Given the description of an element on the screen output the (x, y) to click on. 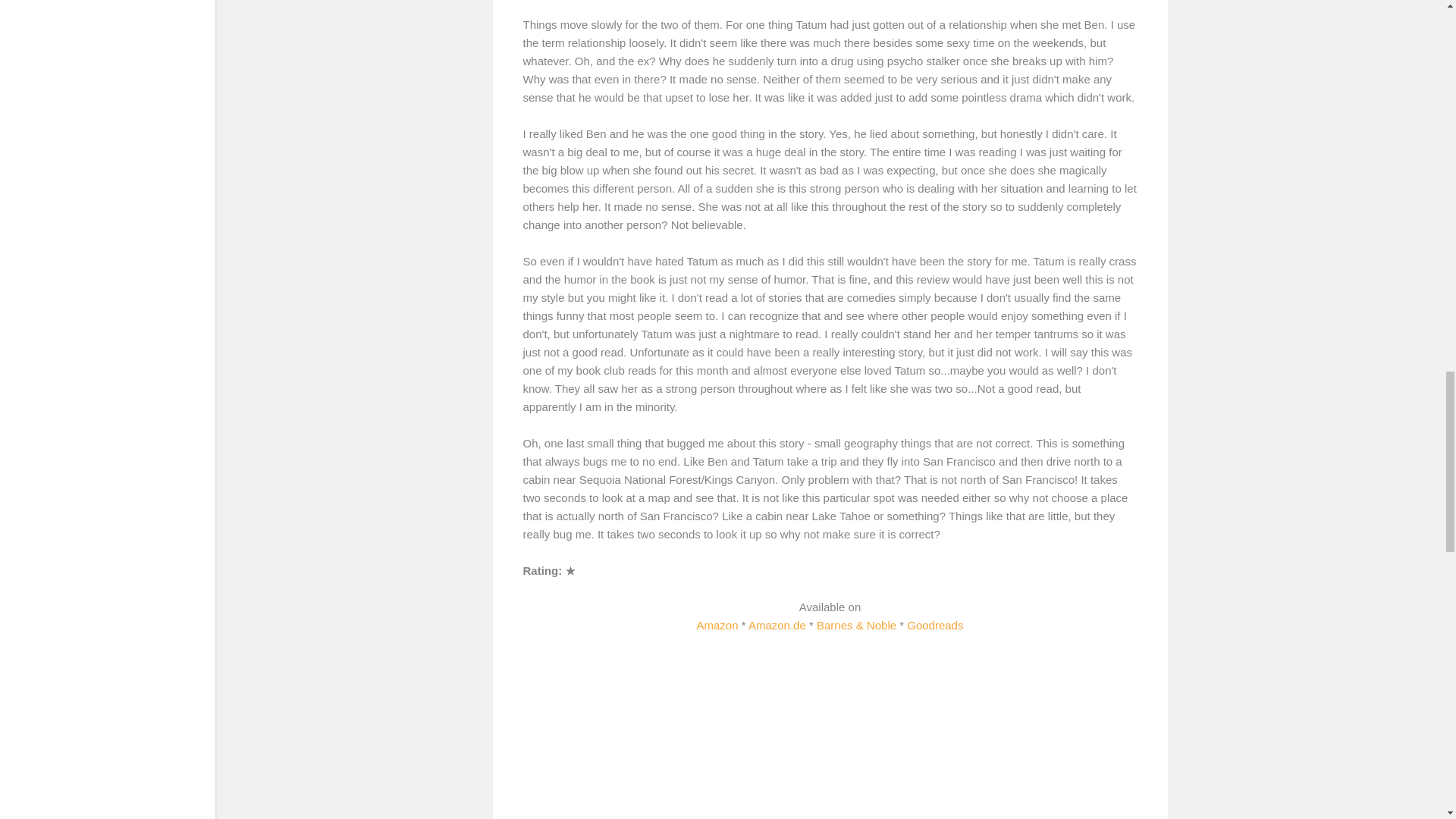
Amazon (717, 625)
Goodreads (934, 625)
Amazon.de (777, 625)
